Given the description of an element on the screen output the (x, y) to click on. 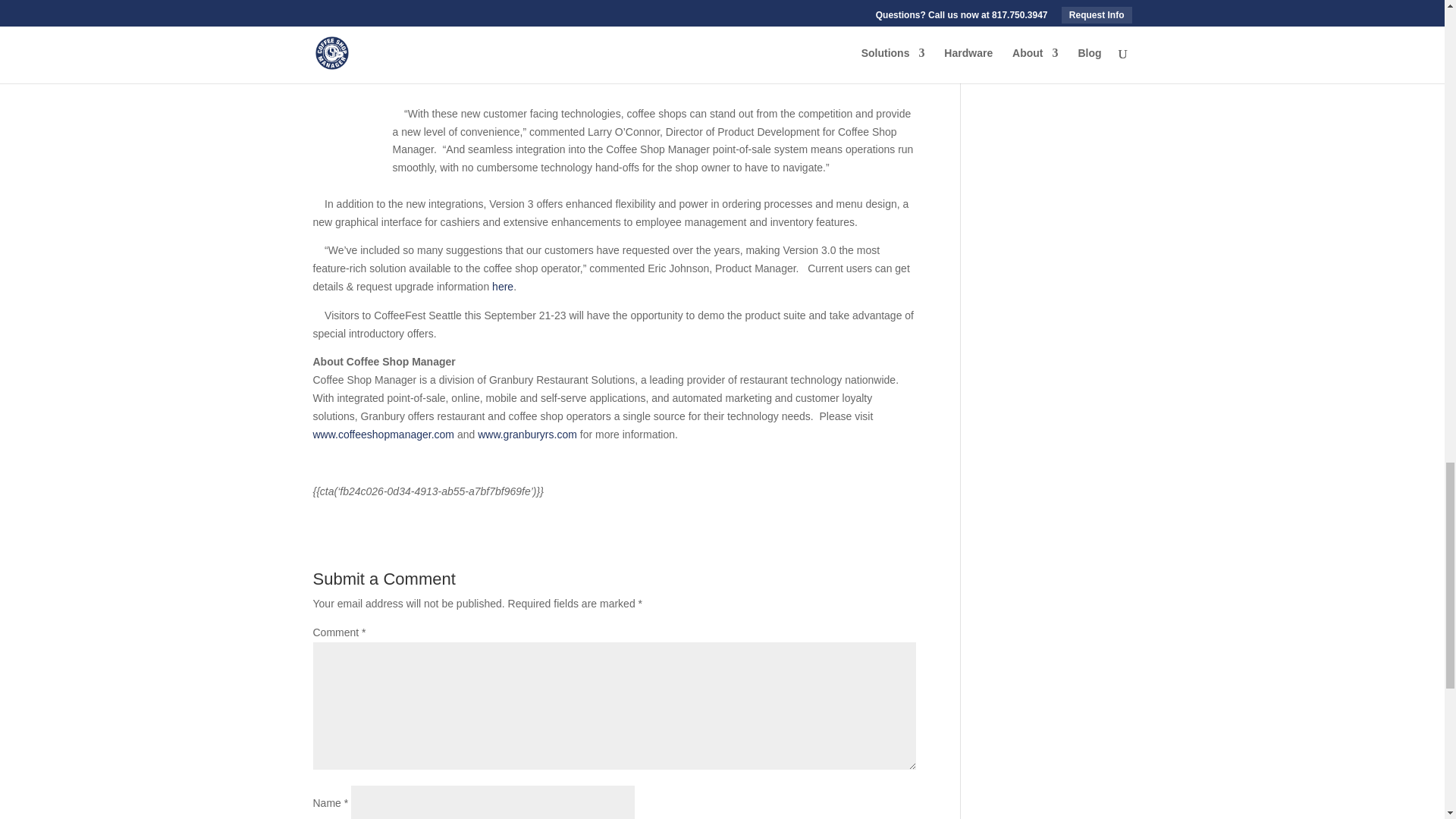
www.coffeeshopmanager.com (383, 434)
here (502, 286)
here (502, 286)
www.granburyrs.com (526, 434)
